Given the description of an element on the screen output the (x, y) to click on. 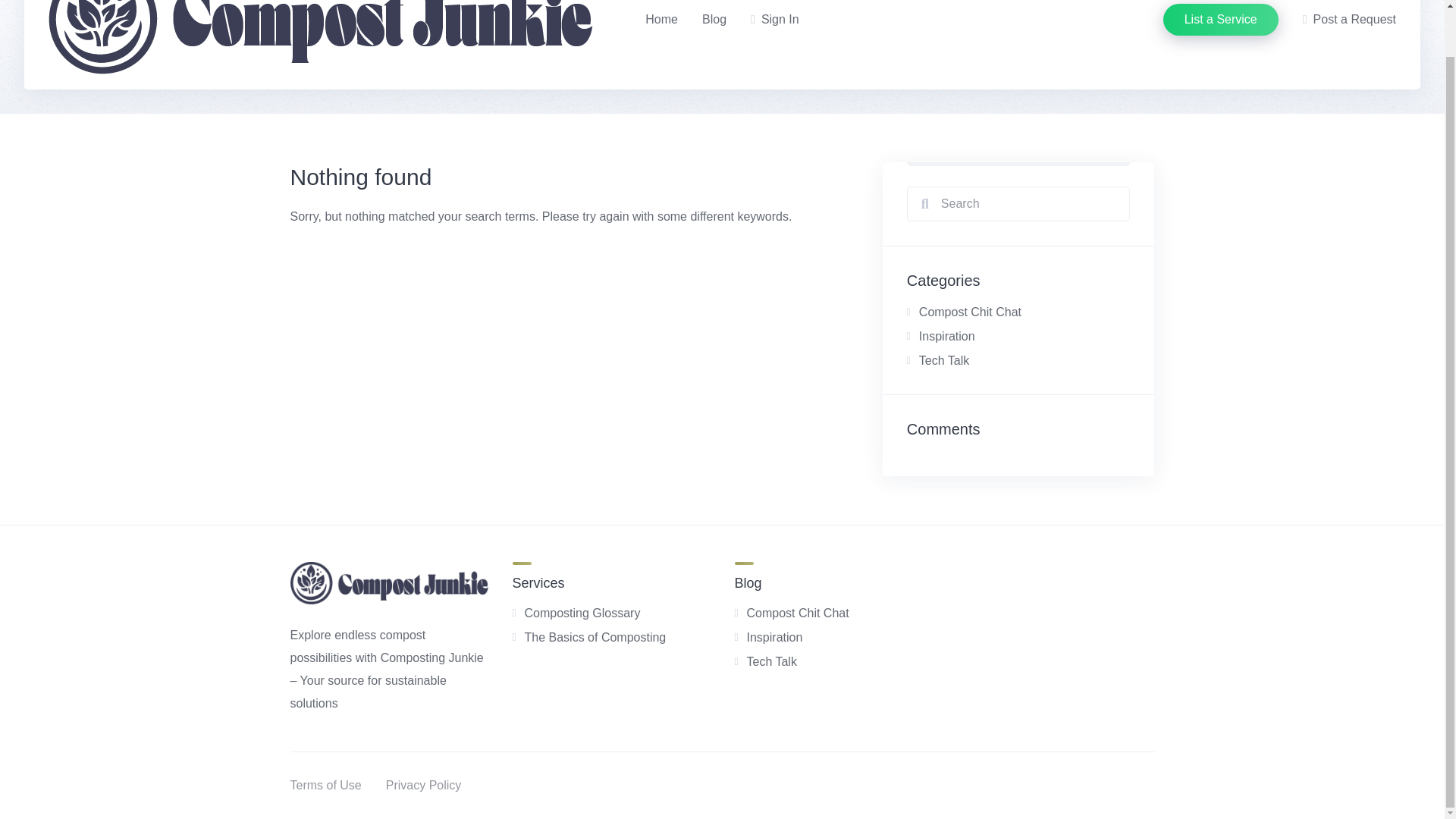
Tech Talk (770, 661)
Compost Chit Chat (796, 612)
Privacy Policy (423, 784)
Sign In (775, 19)
Terms of Use (325, 784)
The Basics of Composting (595, 636)
Home (661, 19)
Inspiration (946, 336)
Post a Request (1349, 19)
Compost Chit Chat (970, 311)
List a Service (1220, 20)
Blog (713, 19)
Tech Talk (943, 359)
Inspiration (773, 636)
Composting Glossary (582, 612)
